Given the description of an element on the screen output the (x, y) to click on. 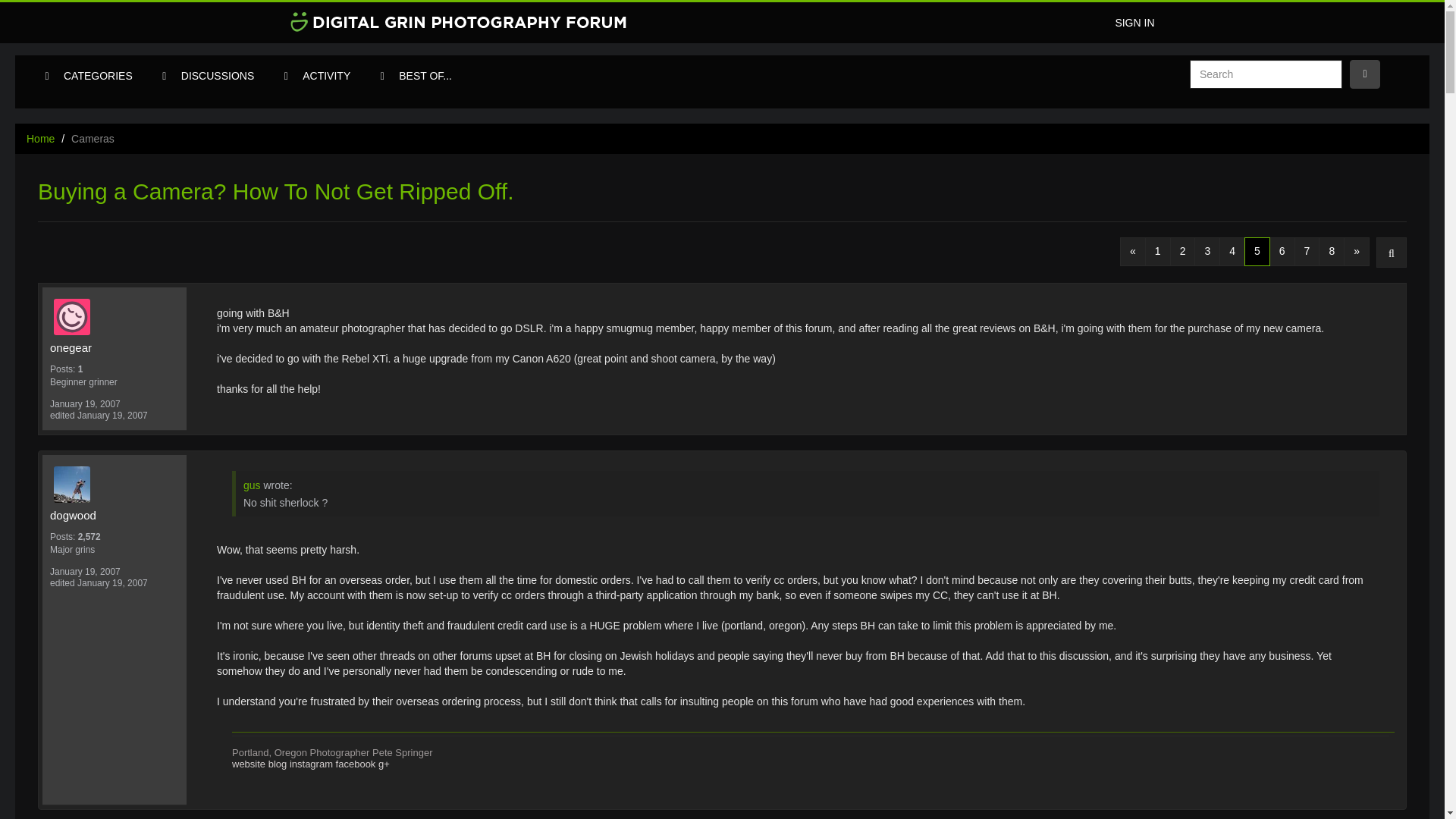
blog (276, 763)
instagram (311, 763)
dogwood (114, 515)
onegear (114, 348)
January 19, 2007 12:57PM (84, 571)
CATEGORIES (98, 75)
1 (1157, 251)
dogwood (118, 484)
DISCUSSIONS (217, 75)
January 19, 2007 (84, 403)
